Given the description of an element on the screen output the (x, y) to click on. 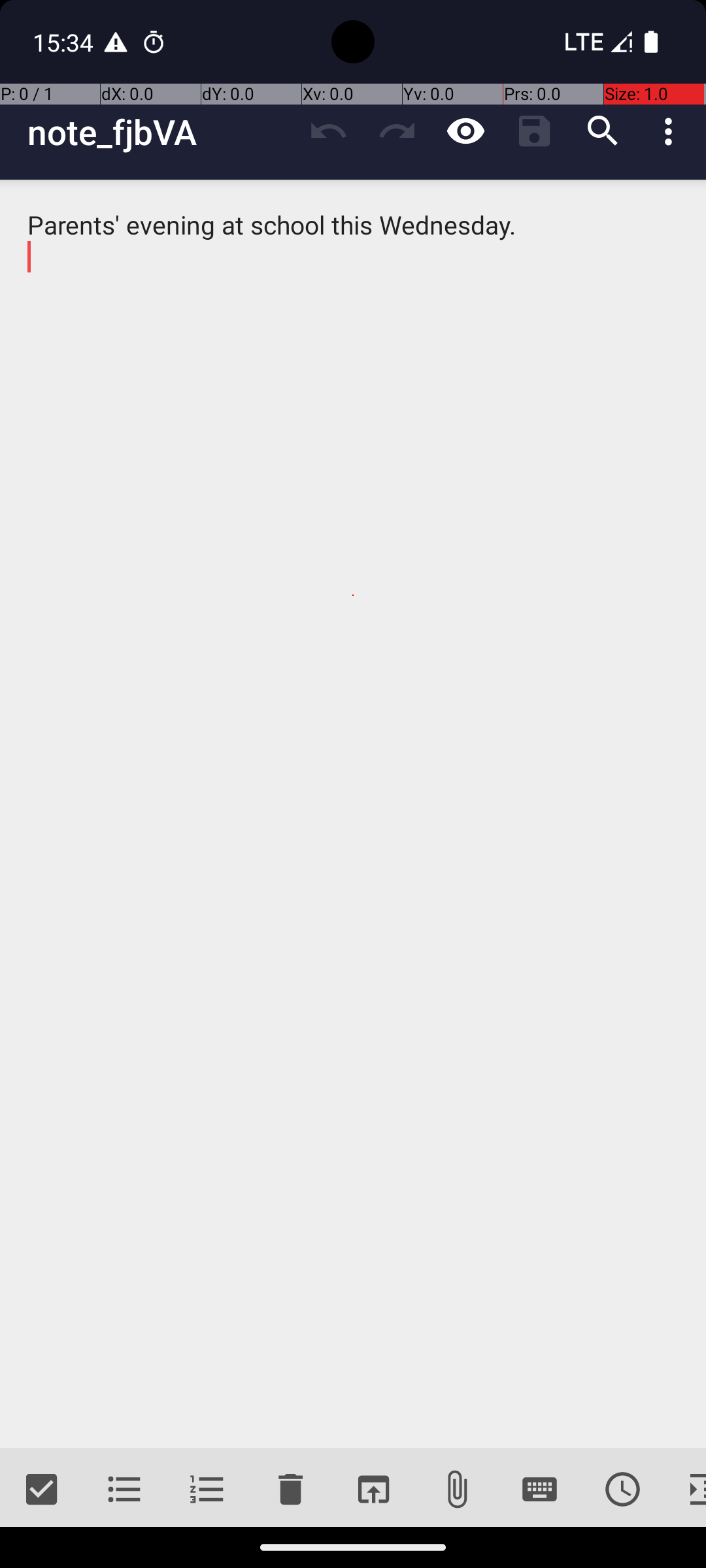
note_fjbVA Element type: android.widget.TextView (160, 131)
Parents' evening at school this Wednesday.
 Element type: android.widget.EditText (353, 813)
